Given the description of an element on the screen output the (x, y) to click on. 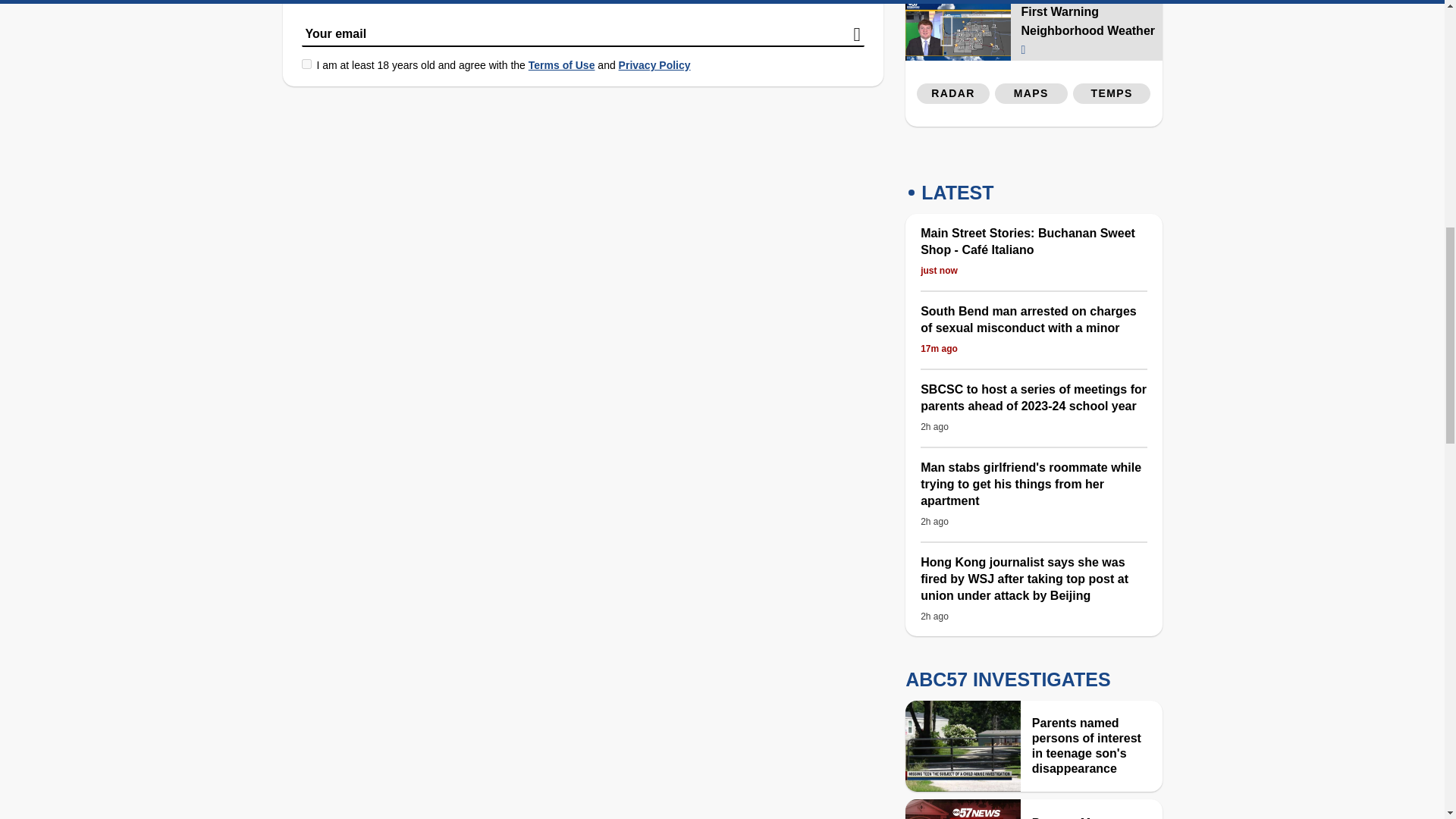
on (306, 63)
